Given the description of an element on the screen output the (x, y) to click on. 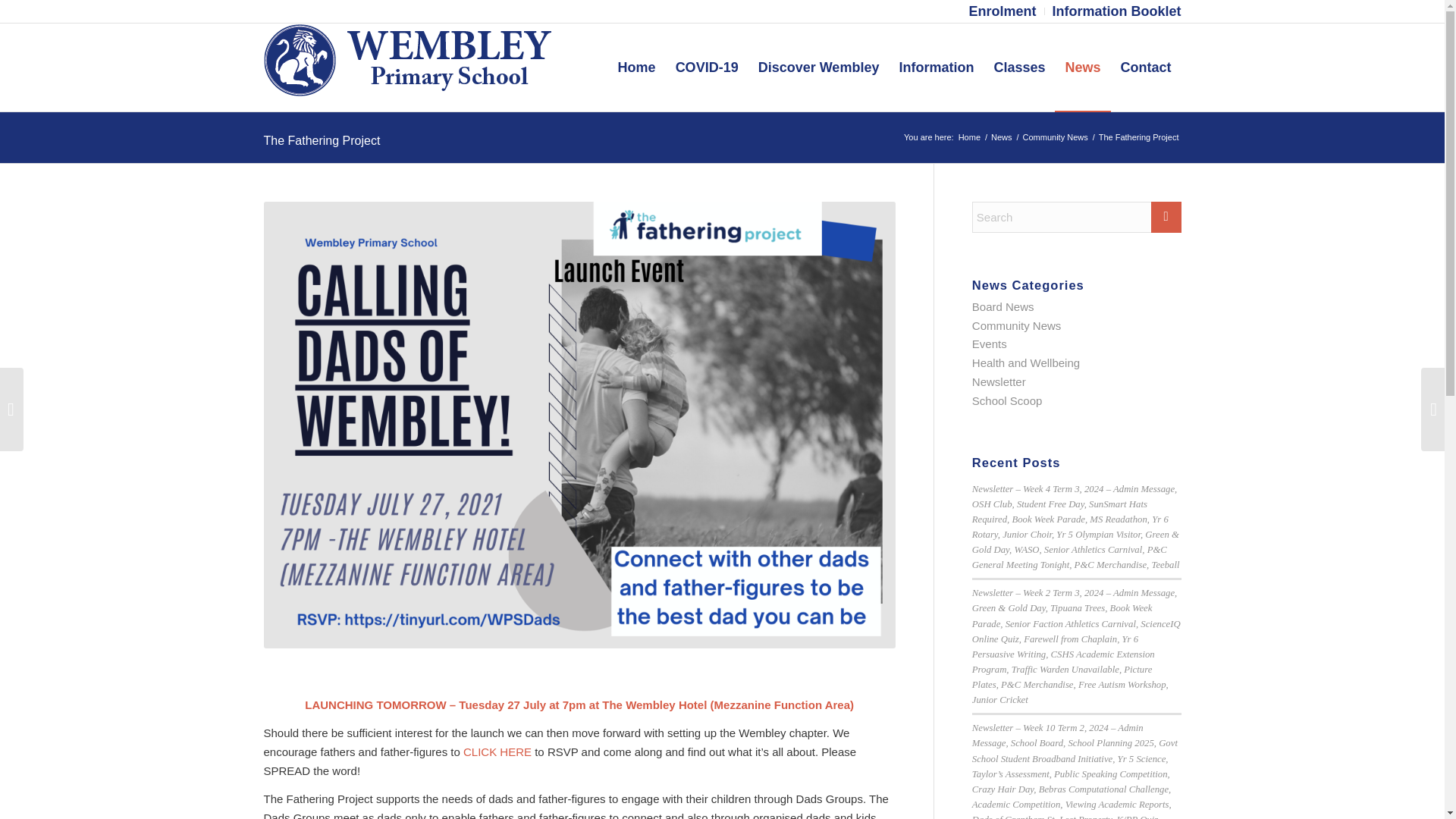
wembley ps blue logo (407, 67)
News (1001, 137)
Permanent Link: The Fathering Project (321, 140)
Enrolment (1001, 12)
News (1001, 137)
Wembley Primary School (969, 137)
Click to start search (1165, 216)
Home (969, 137)
Discover Wembley (818, 67)
COVID-19 (706, 67)
